Given the description of an element on the screen output the (x, y) to click on. 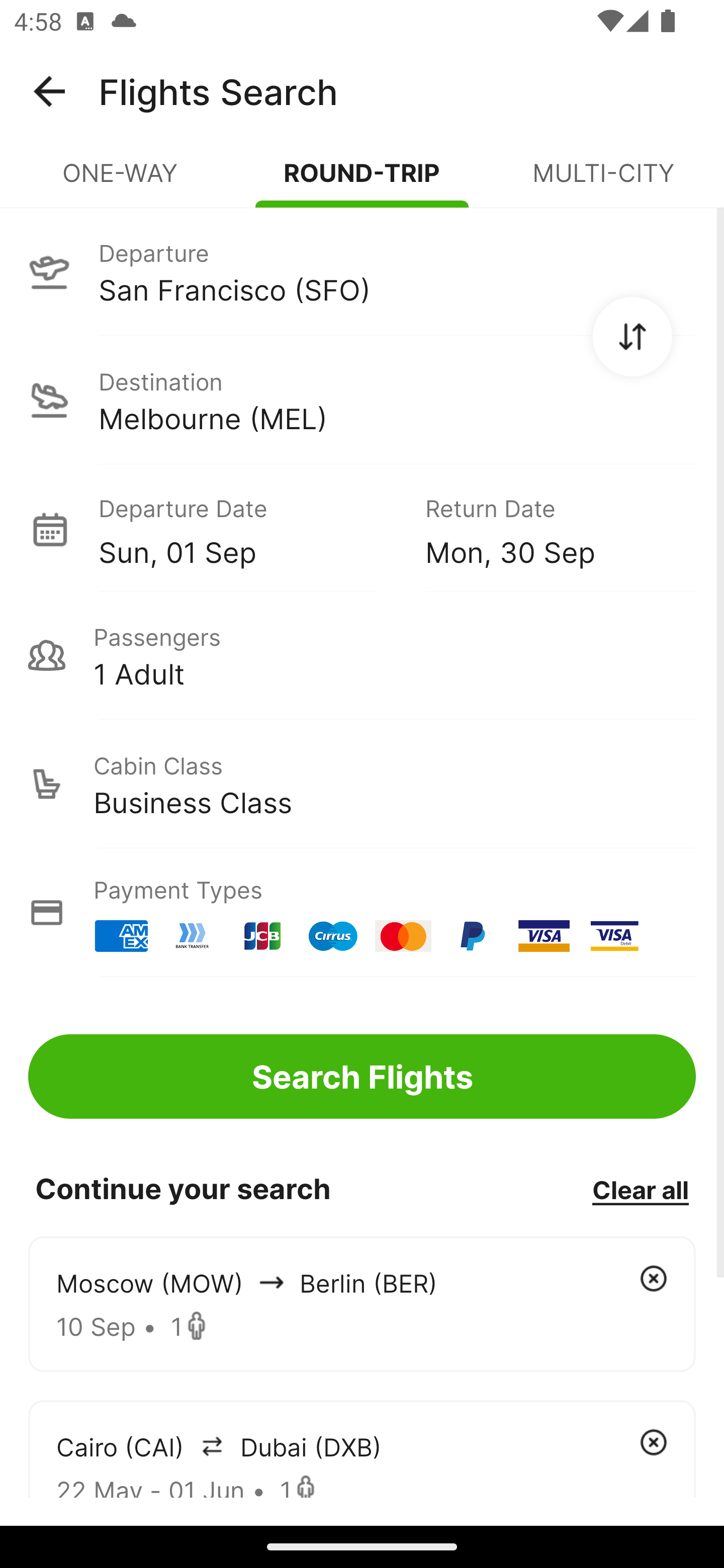
ONE-WAY (120, 180)
ROUND-TRIP (361, 180)
MULTI-CITY (603, 180)
Departure San Francisco (SFO) (362, 270)
Destination Melbourne (MEL) (362, 400)
Departure Date Sun, 01 Sep (247, 528)
Return Date Mon, 30 Sep (546, 528)
Passengers 1 Adult (362, 655)
Cabin Class Business Class (362, 783)
Payment Types (362, 912)
Search Flights (361, 1075)
Clear all (640, 1189)
Moscow (MOW)  arrowIcon  Berlin (BER) 10 Sep •  1  (361, 1303)
